Given the description of an element on the screen output the (x, y) to click on. 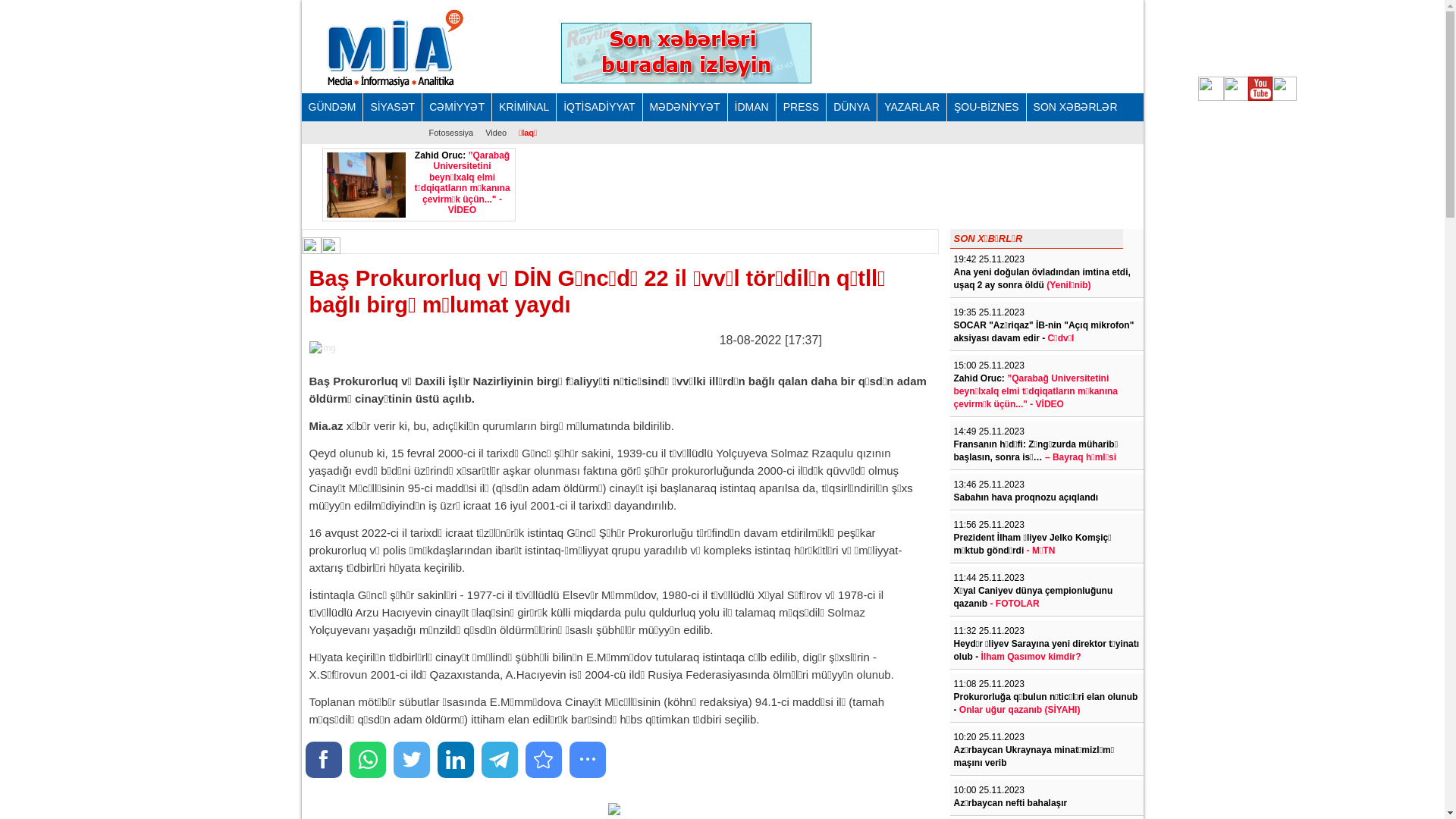
All social media buttons Element type: hover (586, 759)
Share to Facebook Element type: hover (322, 759)
Share to Telegram Element type: hover (498, 759)
Fotosessiya Element type: text (451, 132)
Share to WhatsApp Element type: hover (366, 759)
PRESS Element type: text (801, 107)
YAZARLAR Element type: text (912, 107)
Share to LinkedIn Element type: hover (454, 759)
Share to Twitter Element type: hover (410, 759)
Video Element type: text (495, 132)
